Given the description of an element on the screen output the (x, y) to click on. 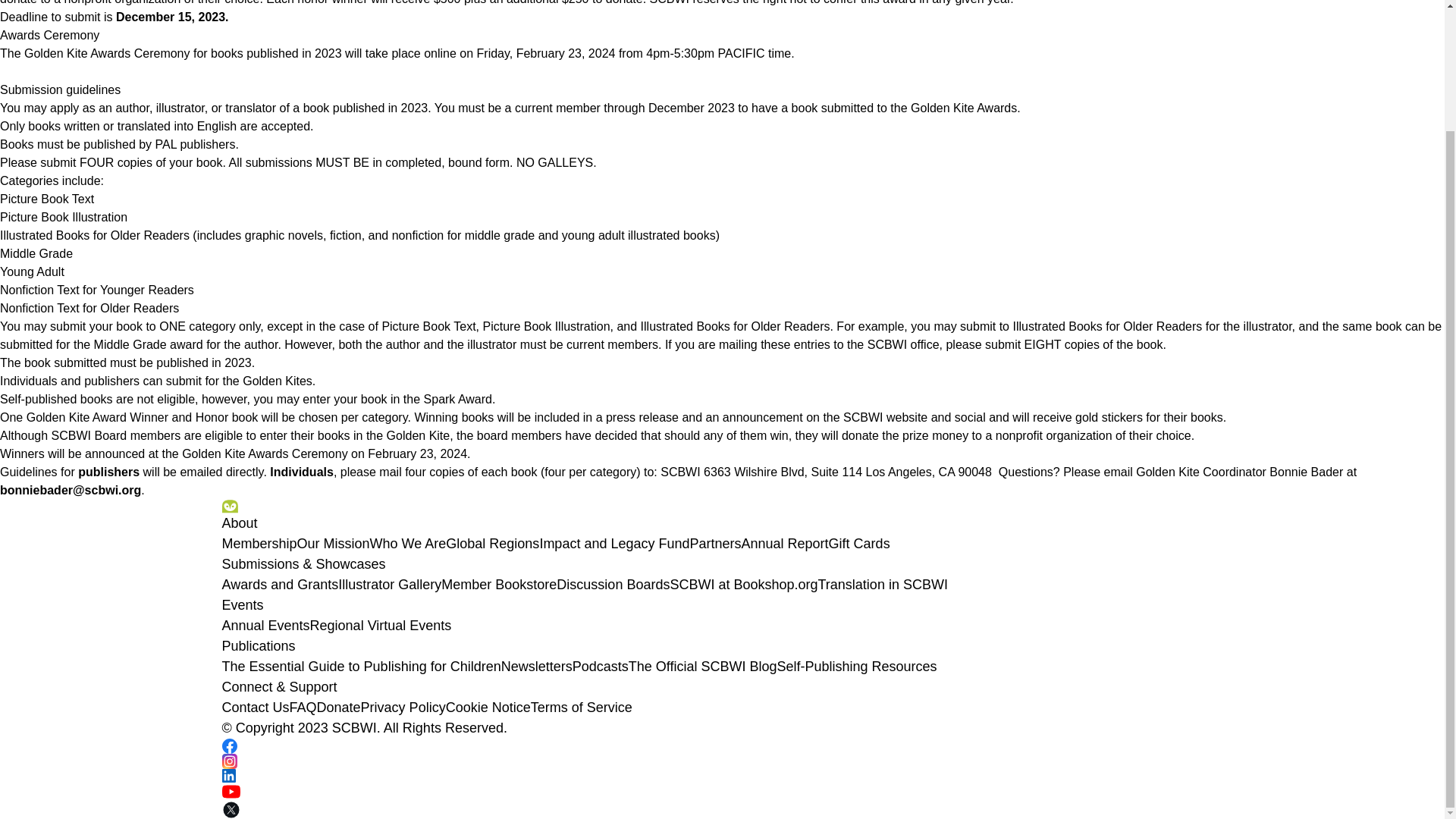
Cookie Notice (488, 707)
Privacy Policy (403, 707)
Gift Cards (858, 543)
Impact and Legacy Fund (613, 543)
Who We Are (407, 543)
Terms of Service (581, 707)
Self-Publishing Resources (857, 666)
Our Mission (333, 543)
Discussion Boards (612, 584)
SCBWI at Bookshop.org (742, 584)
The Essential Guide to Publishing for Children (360, 666)
Annual Report (784, 543)
Awards and Grants (279, 584)
Regional Virtual Events (380, 625)
Annual Events (264, 625)
